Given the description of an element on the screen output the (x, y) to click on. 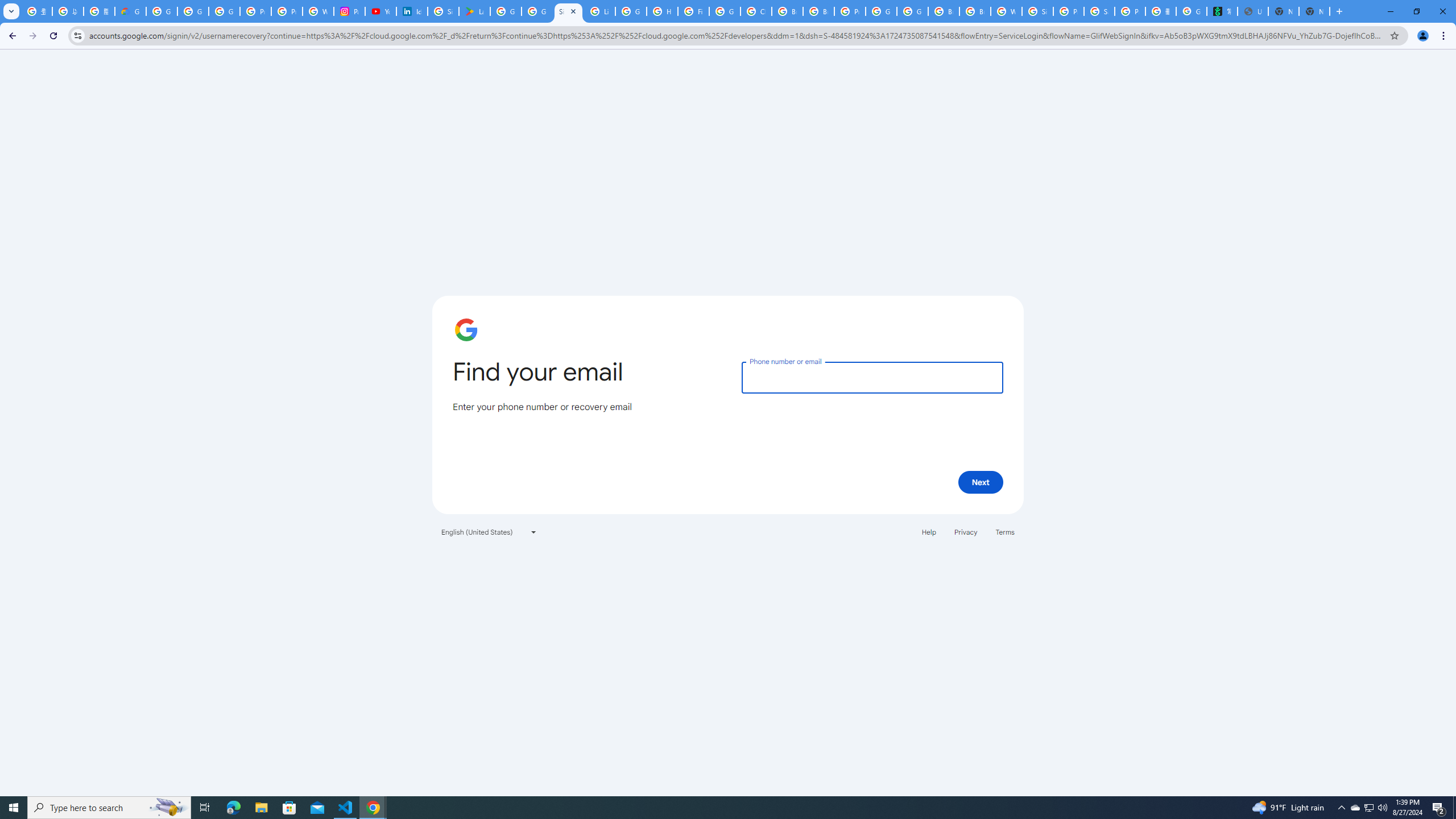
Google Cloud Platform (881, 11)
Phone number or email (871, 376)
New Tab (1314, 11)
